Given the description of an element on the screen output the (x, y) to click on. 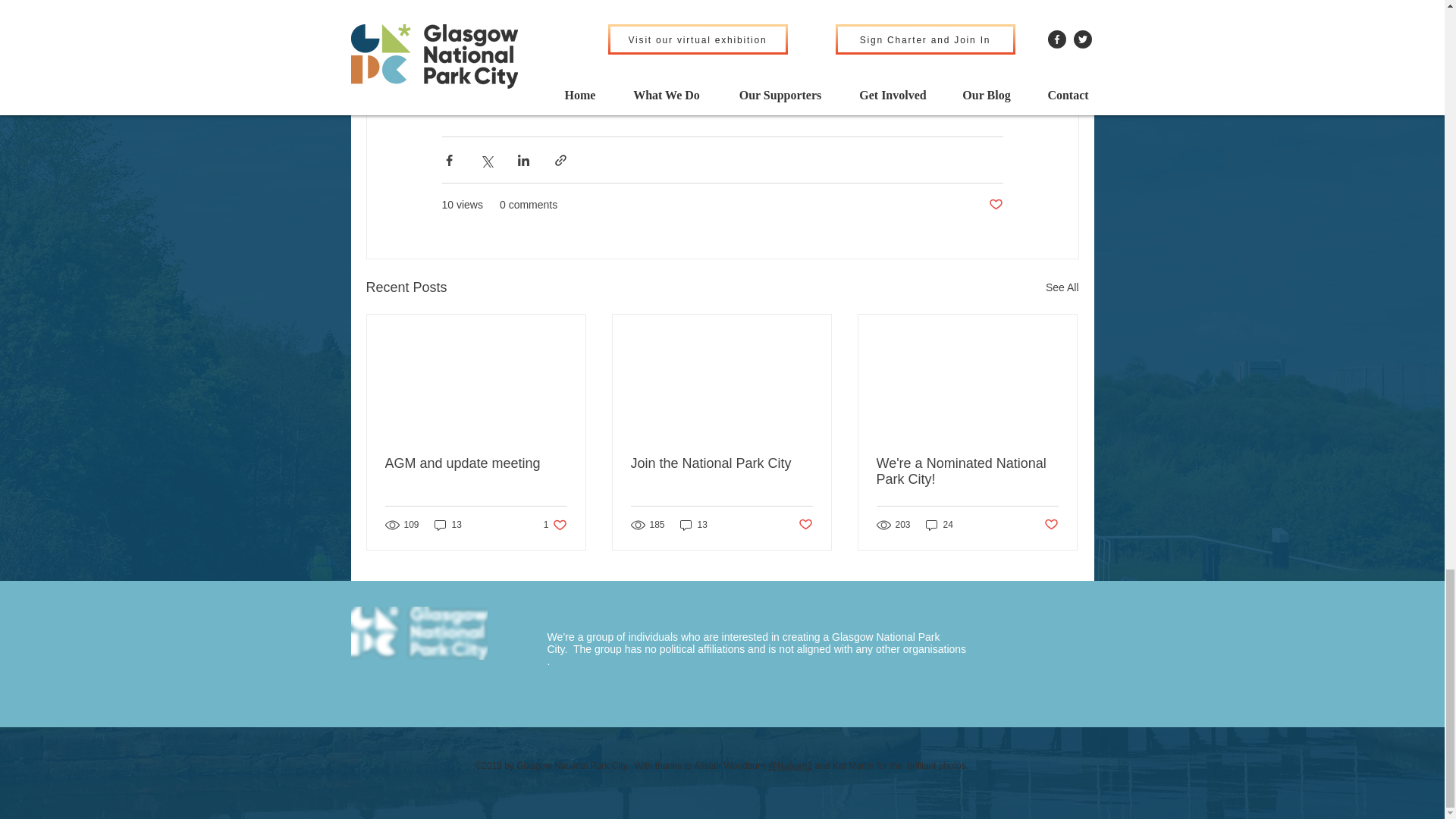
13 (447, 524)
Post not marked as liked (995, 204)
Post not marked as liked (1050, 524)
AGM and update meeting (476, 463)
Join the National Park City (721, 463)
13 (693, 524)
Post not marked as liked (555, 524)
24 (804, 524)
See All (939, 524)
